Given the description of an element on the screen output the (x, y) to click on. 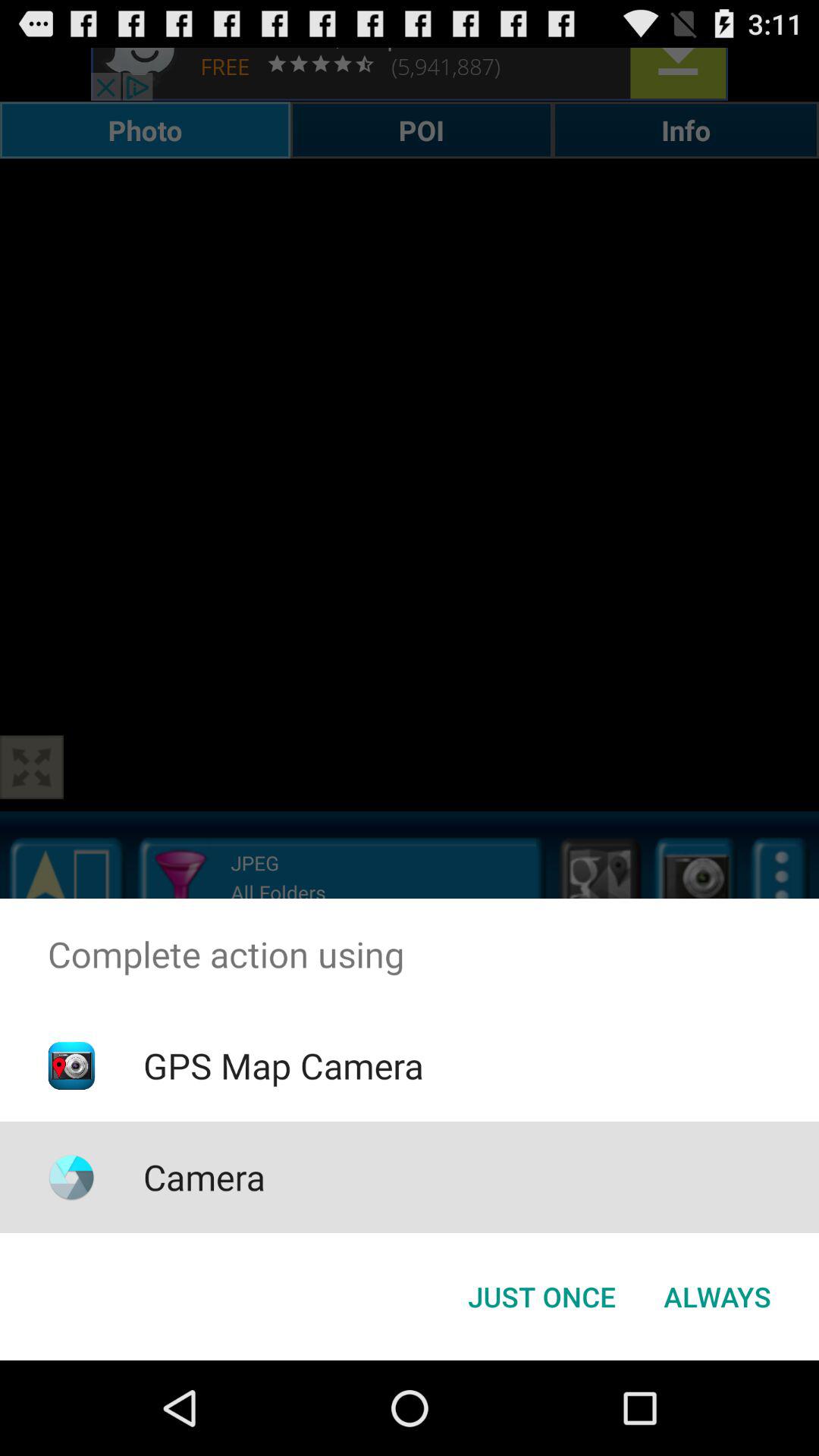
click the just once item (541, 1296)
